Given the description of an element on the screen output the (x, y) to click on. 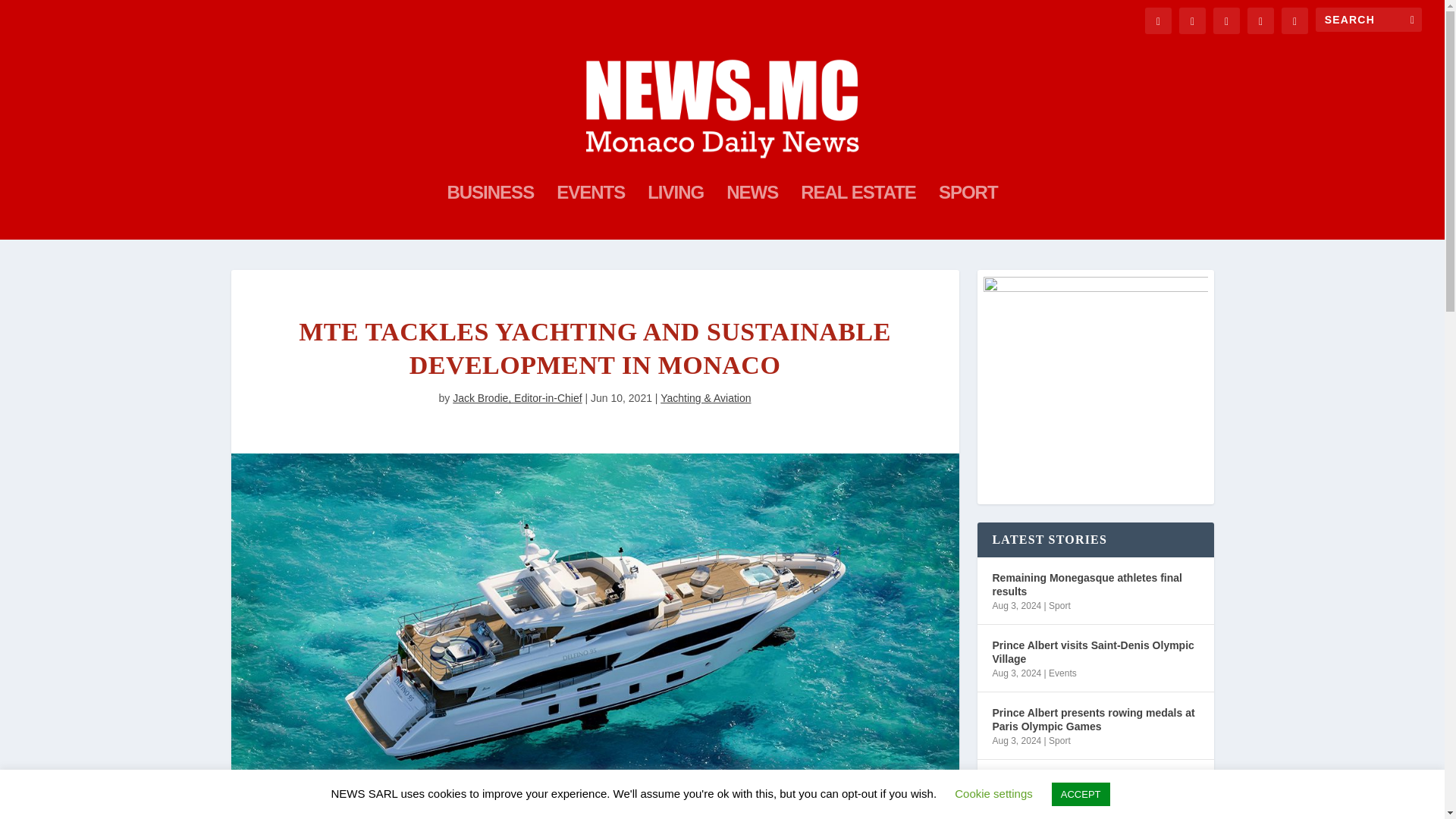
Search for: (1369, 19)
BUSINESS (490, 212)
EVENTS (590, 212)
NEWS (751, 212)
Posts by Jack Brodie, Editor-in-Chief (516, 398)
LIVING (675, 212)
REAL ESTATE (857, 212)
SPORT (968, 212)
